Given the description of an element on the screen output the (x, y) to click on. 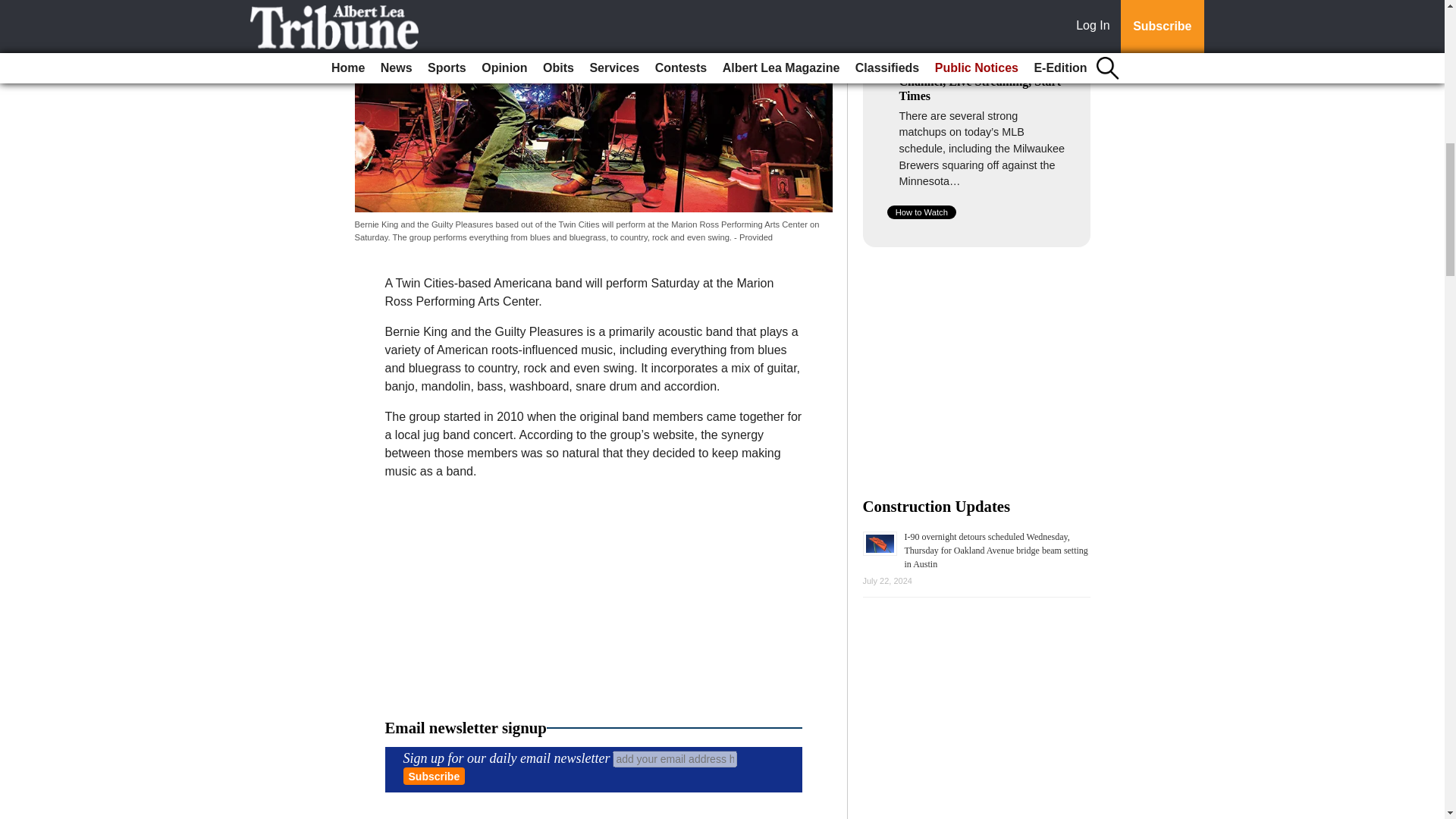
Subscribe (434, 775)
